Given the description of an element on the screen output the (x, y) to click on. 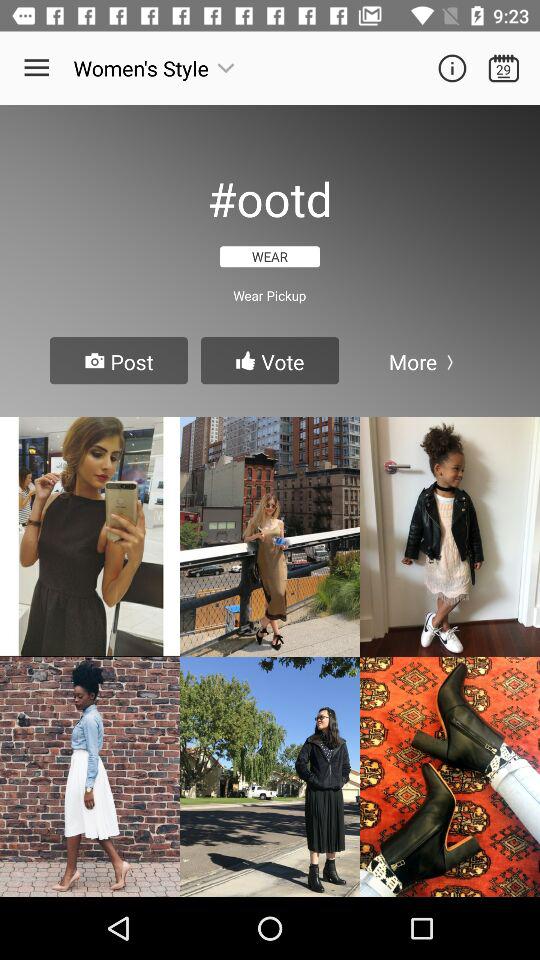
go to information tab (452, 68)
